Given the description of an element on the screen output the (x, y) to click on. 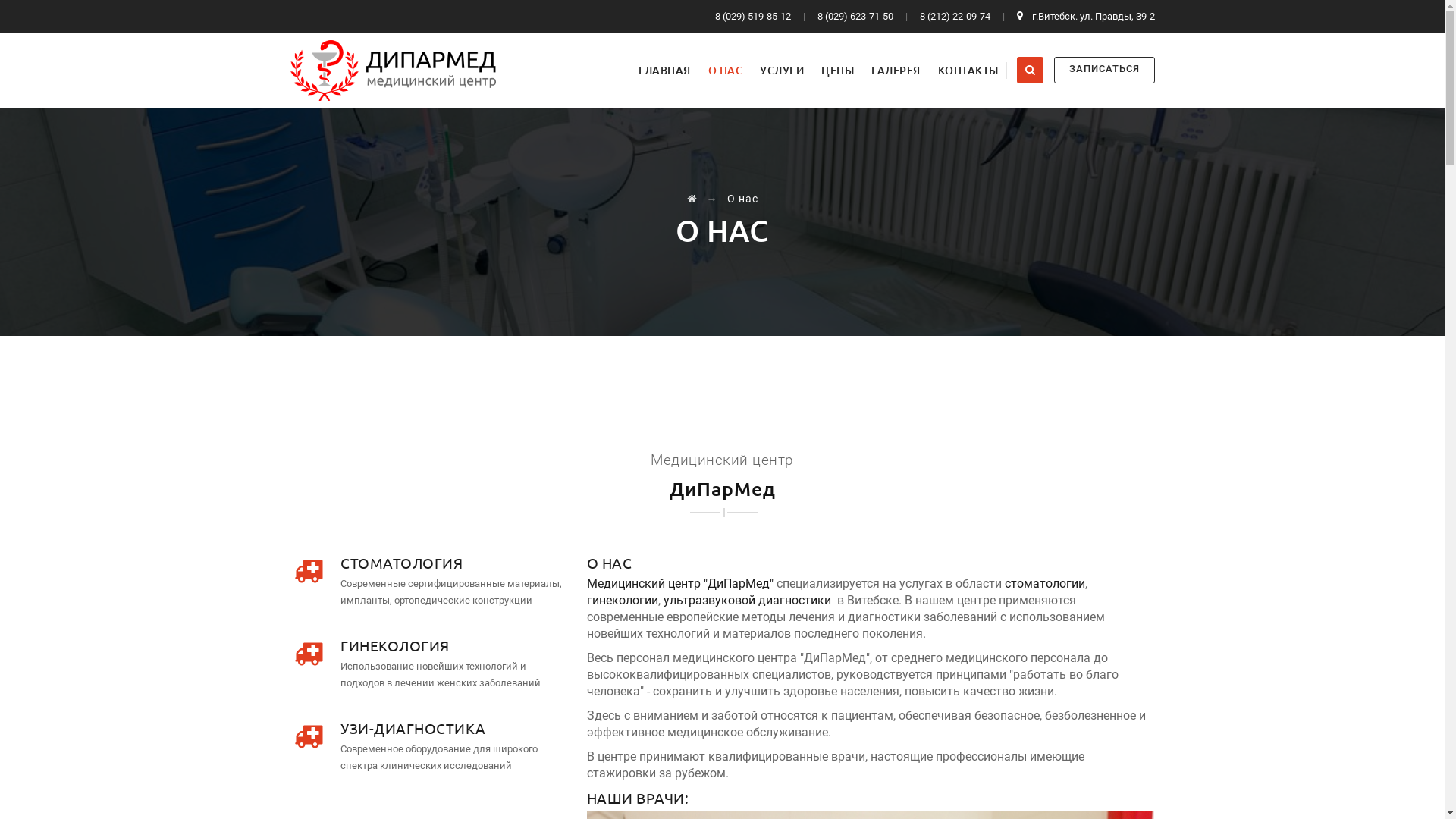
8 (029) 519-85-12 Element type: text (753, 15)
8 (029) 623-71-50 Element type: text (856, 15)
Skip to content Element type: text (630, 32)
8 (212) 22-09-74 Element type: text (955, 15)
